Given the description of an element on the screen output the (x, y) to click on. 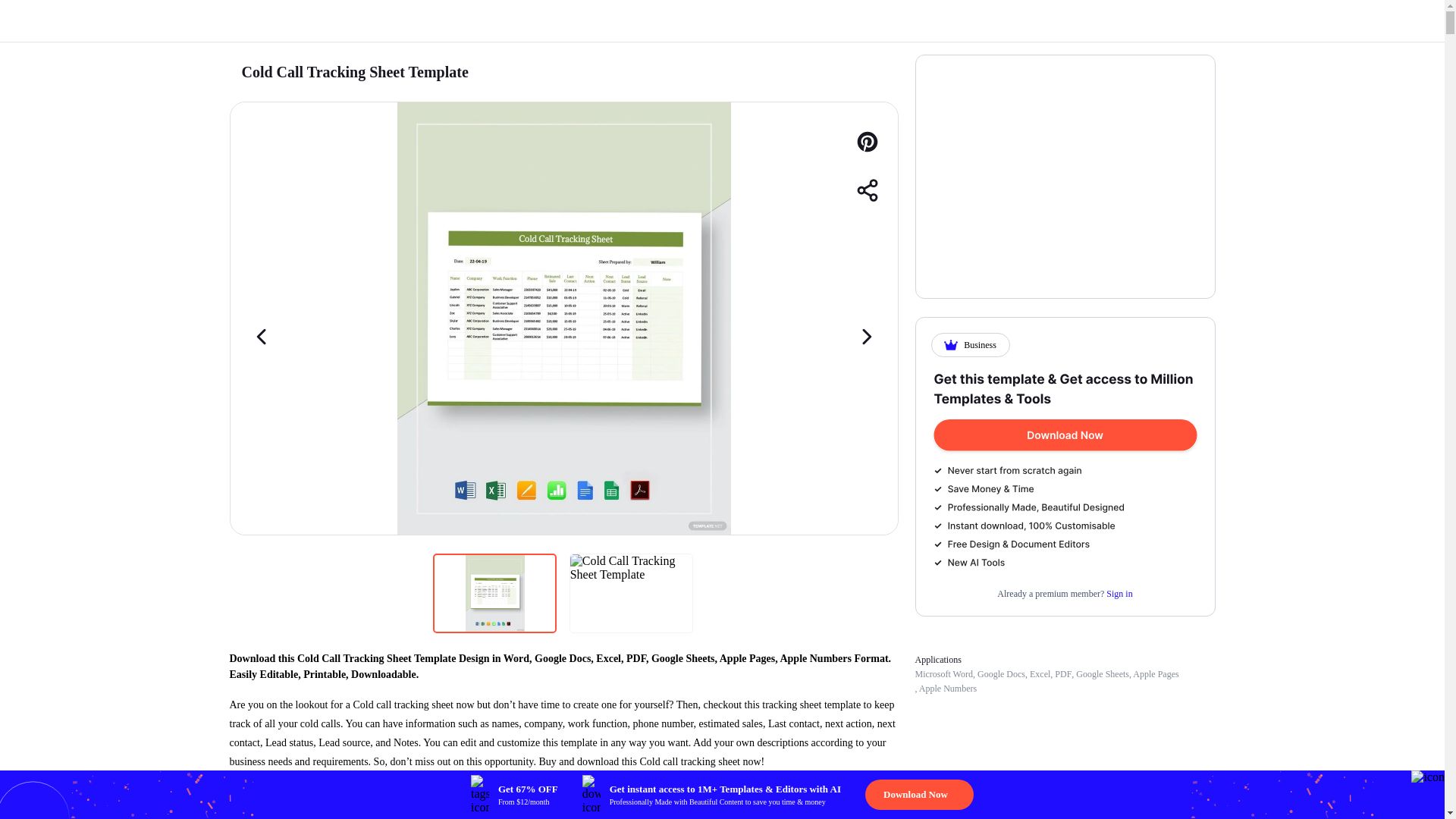
Banner Pricing Bundle (1065, 470)
, PDF (1060, 674)
, Apple Pages (1154, 674)
, Google Docs (998, 674)
, Apple Numbers (945, 688)
, Google Sheets (1100, 674)
Microsoft Word (943, 674)
, Excel (1037, 674)
